Given the description of an element on the screen output the (x, y) to click on. 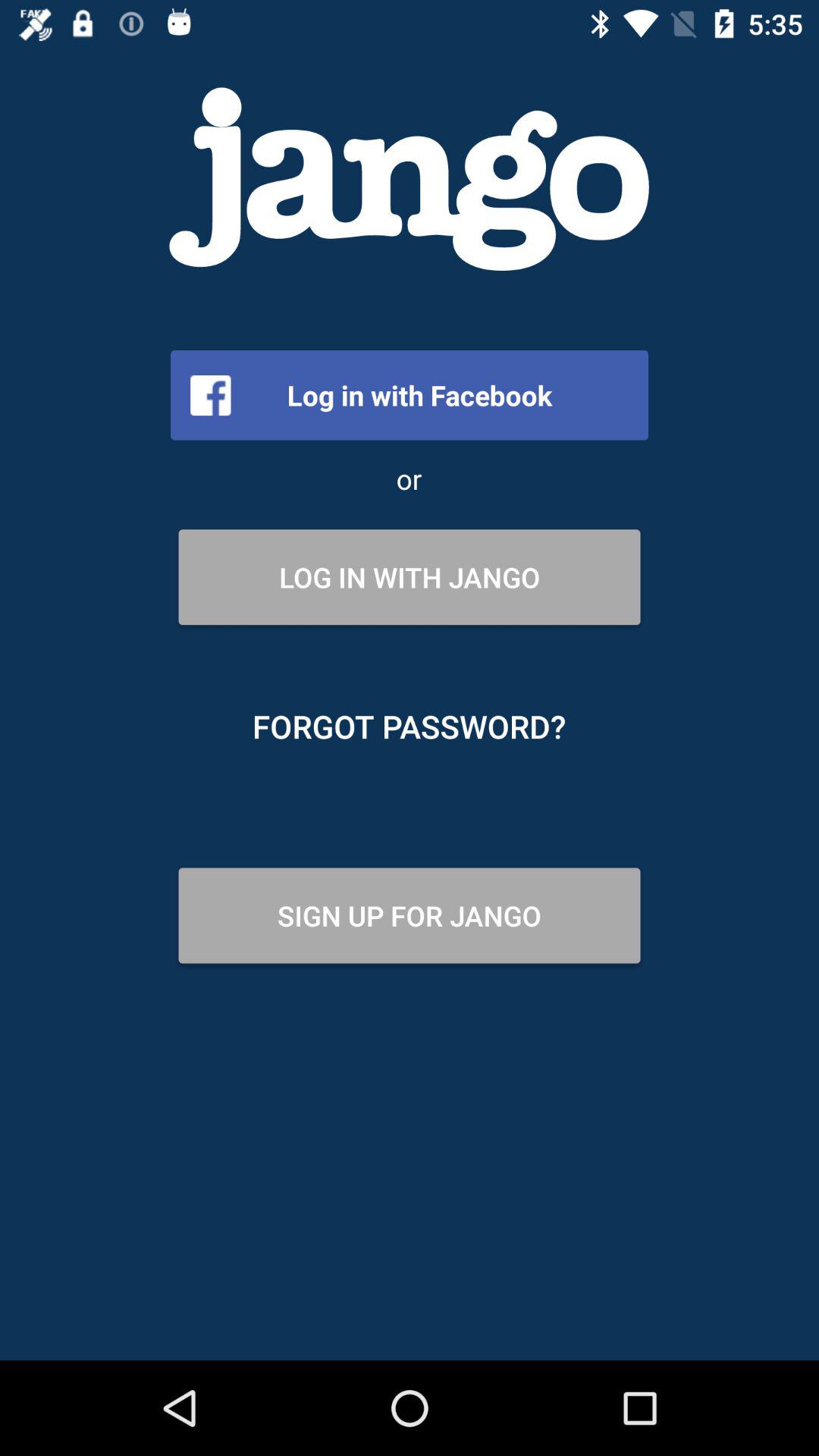
launch the icon below forgot password? (409, 915)
